Given the description of an element on the screen output the (x, y) to click on. 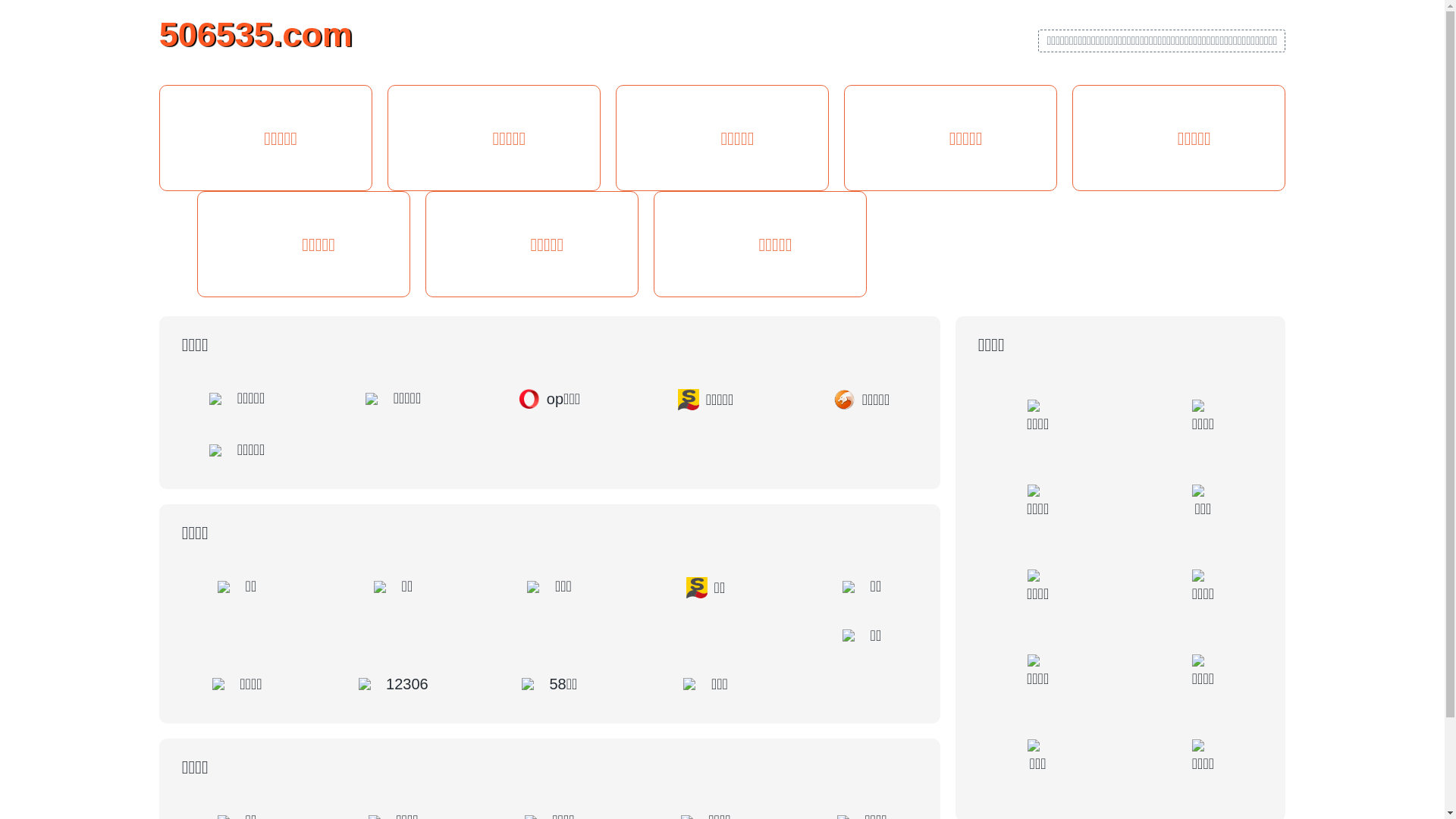
506535.com Element type: text (255, 32)
12306 Element type: text (393, 683)
